Given the description of an element on the screen output the (x, y) to click on. 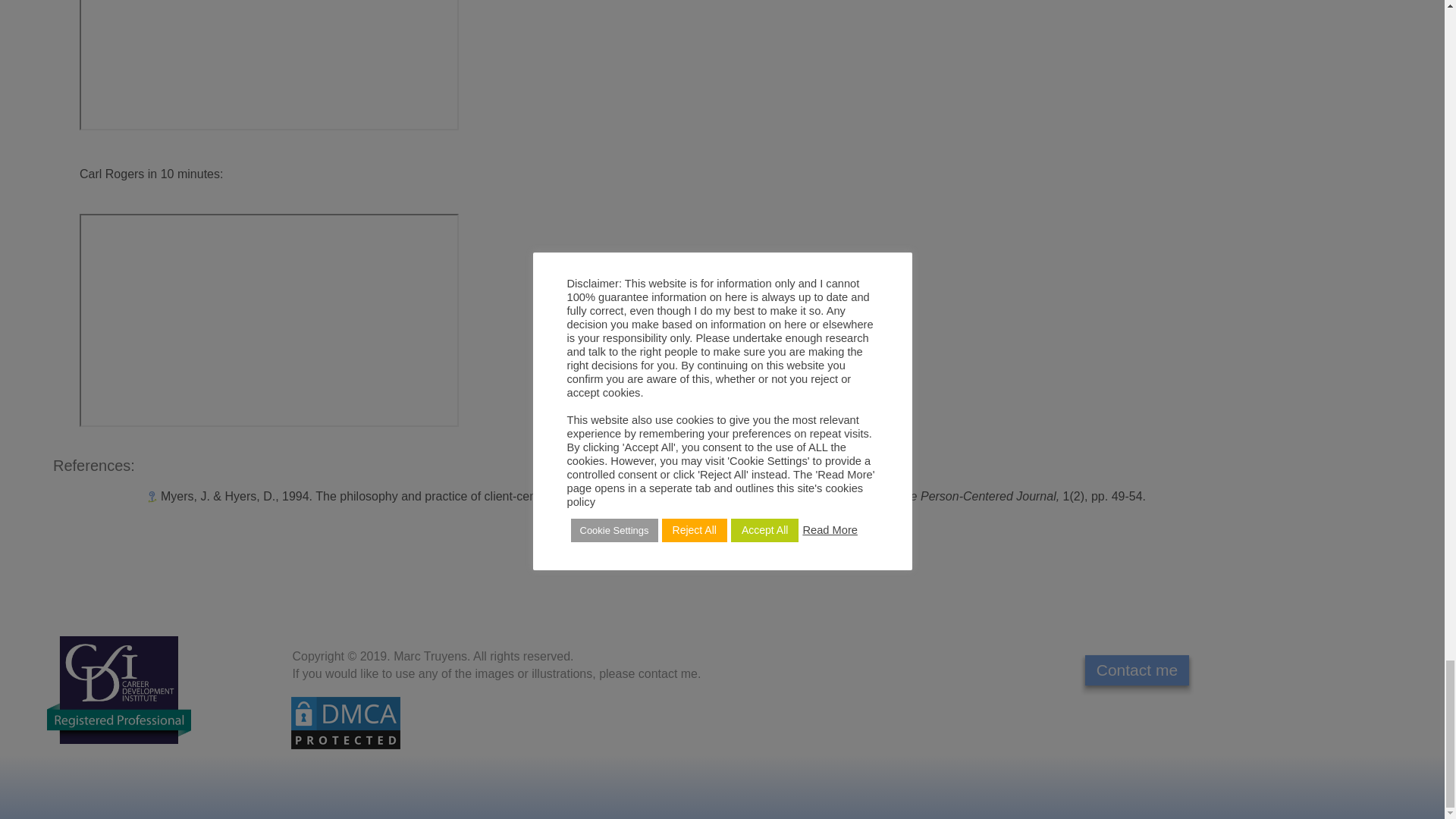
DMCA.com Protection Status (344, 721)
Carl Rogers (269, 65)
Rogers In Ten Minutes (269, 319)
